Given the description of an element on the screen output the (x, y) to click on. 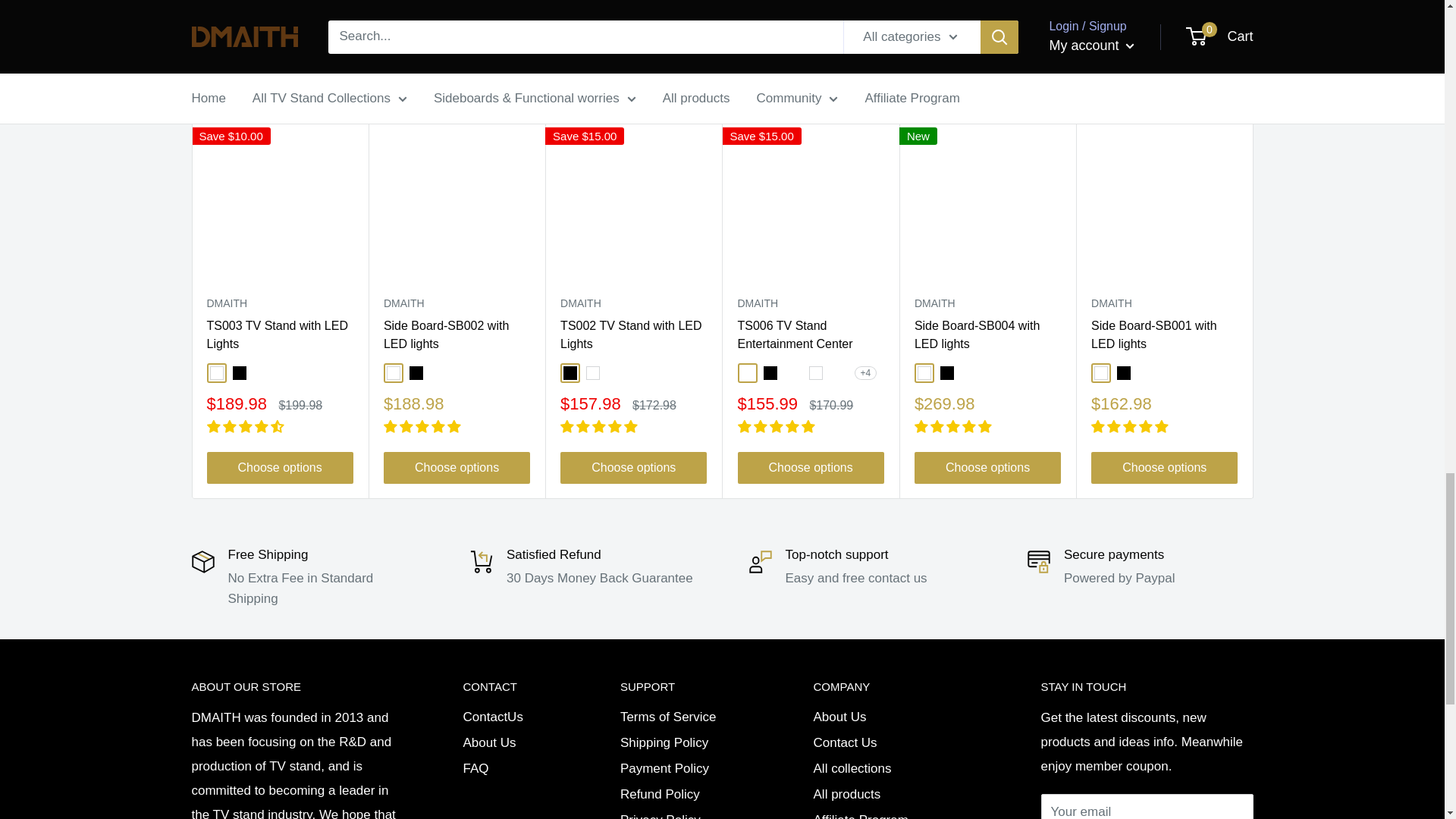
White (393, 373)
ROW (284, 373)
Black (569, 373)
FW (837, 373)
OAK (746, 373)
Black (769, 373)
WAL (306, 373)
Black (238, 373)
WB (329, 373)
Black (416, 373)
White (815, 373)
GWW (260, 373)
Natural (792, 373)
White (592, 373)
White (215, 373)
